Given the description of an element on the screen output the (x, y) to click on. 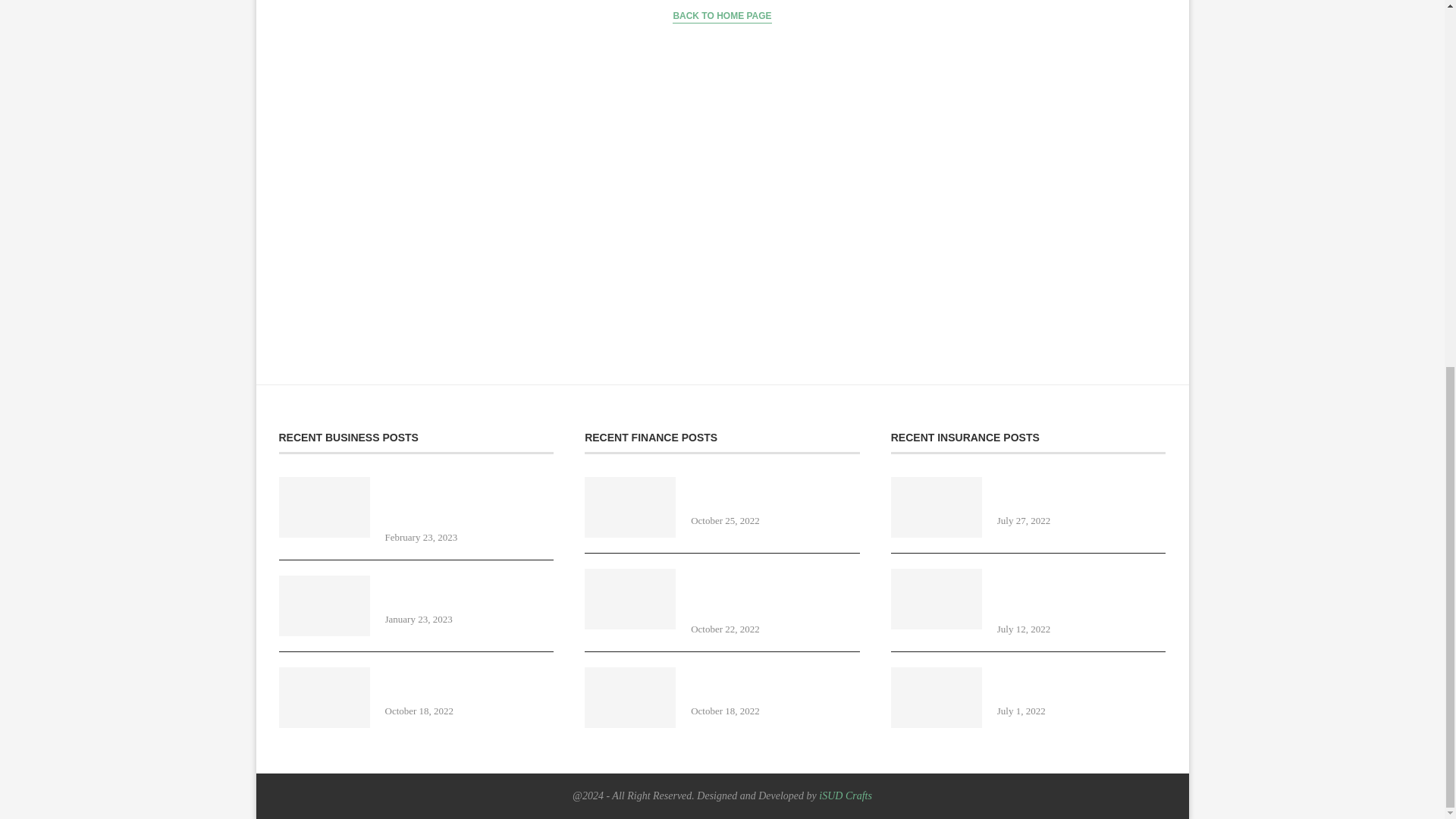
Investing in a Business as a Silent Partner (469, 592)
Reseller Business Opportunities (630, 697)
Investing in a Business as a Silent Partner (469, 592)
Pros and Cons of Selling Life Insurance Policy (1081, 493)
iSUD Crafts (845, 795)
Reseller Business Opportunities (469, 684)
Investing 5 Dollars a Day can Change Your Life (775, 493)
